Given the description of an element on the screen output the (x, y) to click on. 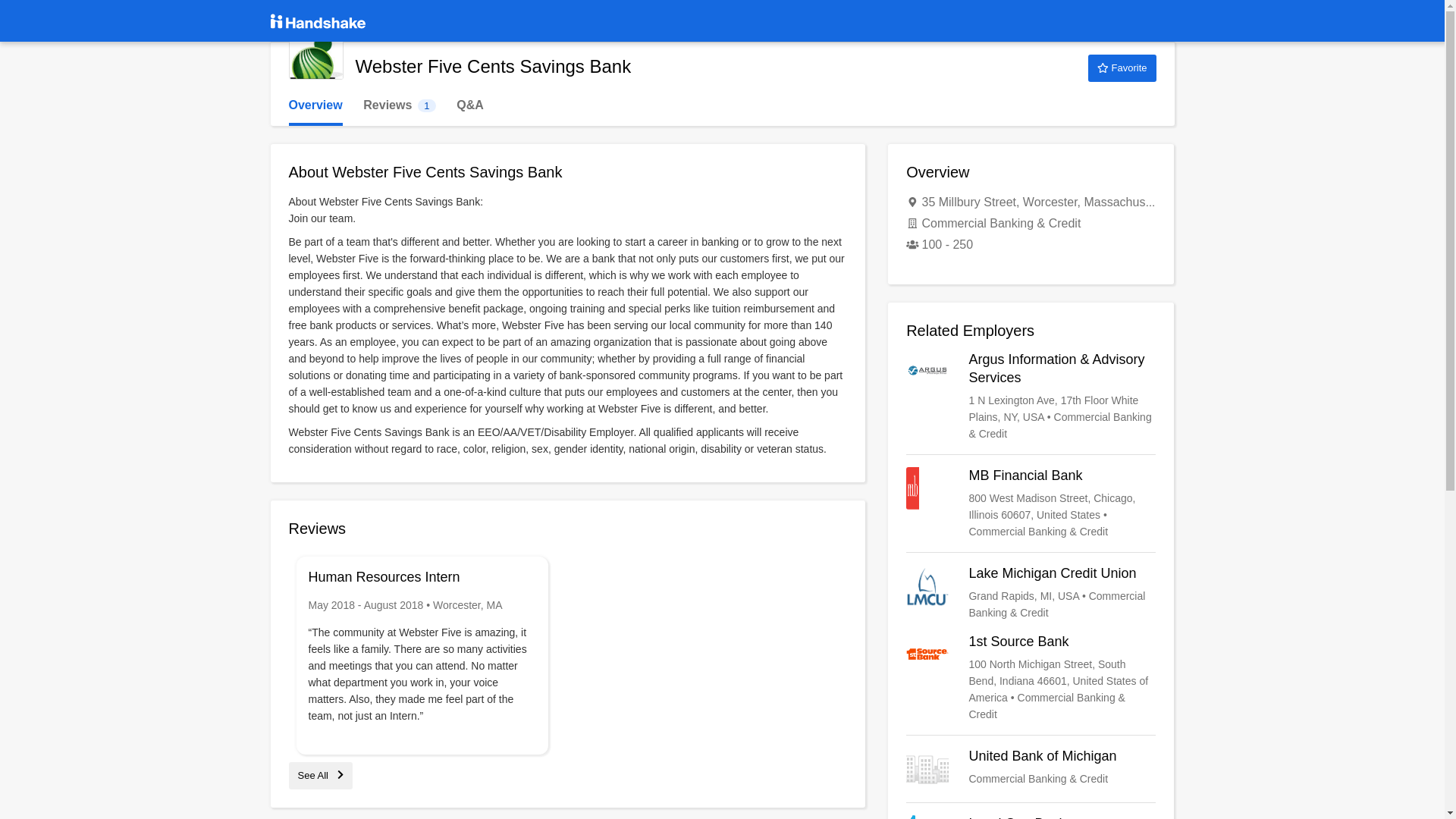
Overview (315, 105)
Favorite (1121, 67)
Webster Five Cents Savings Bank (315, 52)
Lake Michigan Credit Union (1030, 592)
See All (320, 775)
MB Financial Bank (1030, 502)
United Bank of Michigan (398, 105)
Level One Bank (1030, 768)
1st Source Bank (1030, 816)
